Given the description of an element on the screen output the (x, y) to click on. 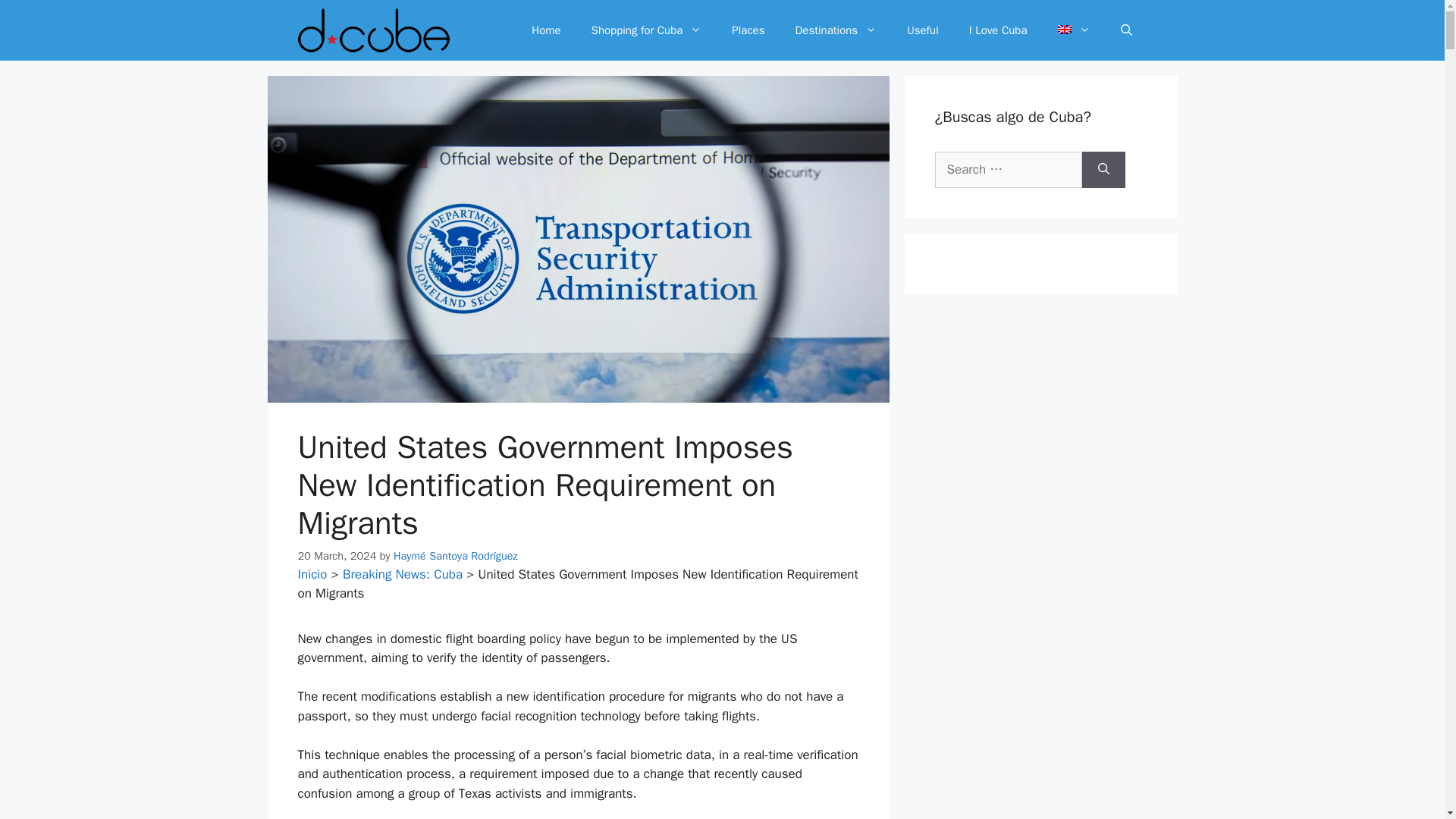
Destinations (834, 30)
Shopping for Cuba (646, 30)
Breaking News: Cuba (402, 574)
Search for: (1007, 169)
Useful (922, 30)
Places (747, 30)
Inicio (311, 574)
I Love Cuba (997, 30)
Home (545, 30)
